Given the description of an element on the screen output the (x, y) to click on. 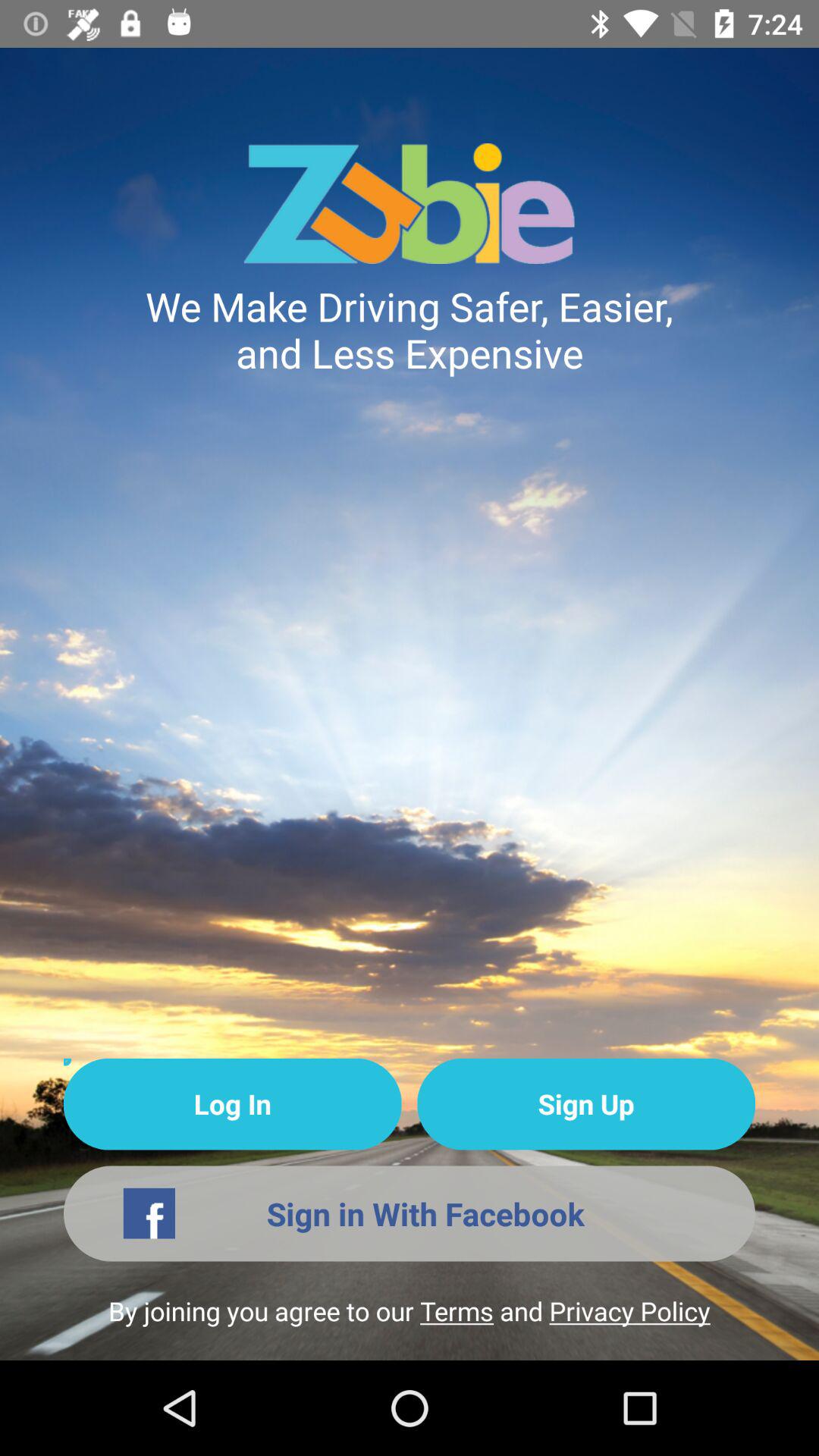
choose the item to the right of the log in icon (586, 1104)
